Given the description of an element on the screen output the (x, y) to click on. 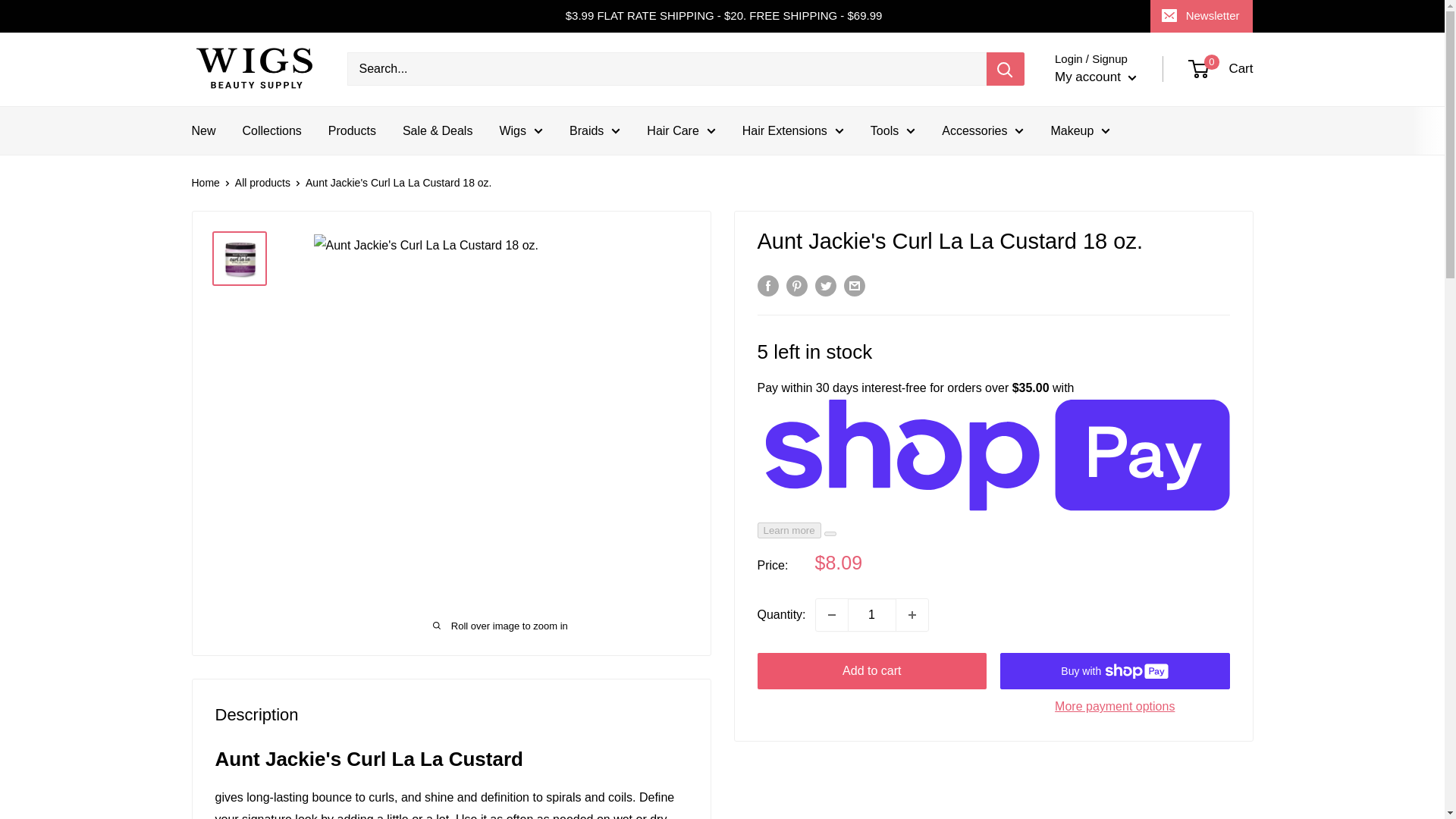
Decrease quantity by 1 (831, 614)
Increase quantity by 1 (912, 614)
1 (871, 614)
Newsletter (1201, 15)
